Given the description of an element on the screen output the (x, y) to click on. 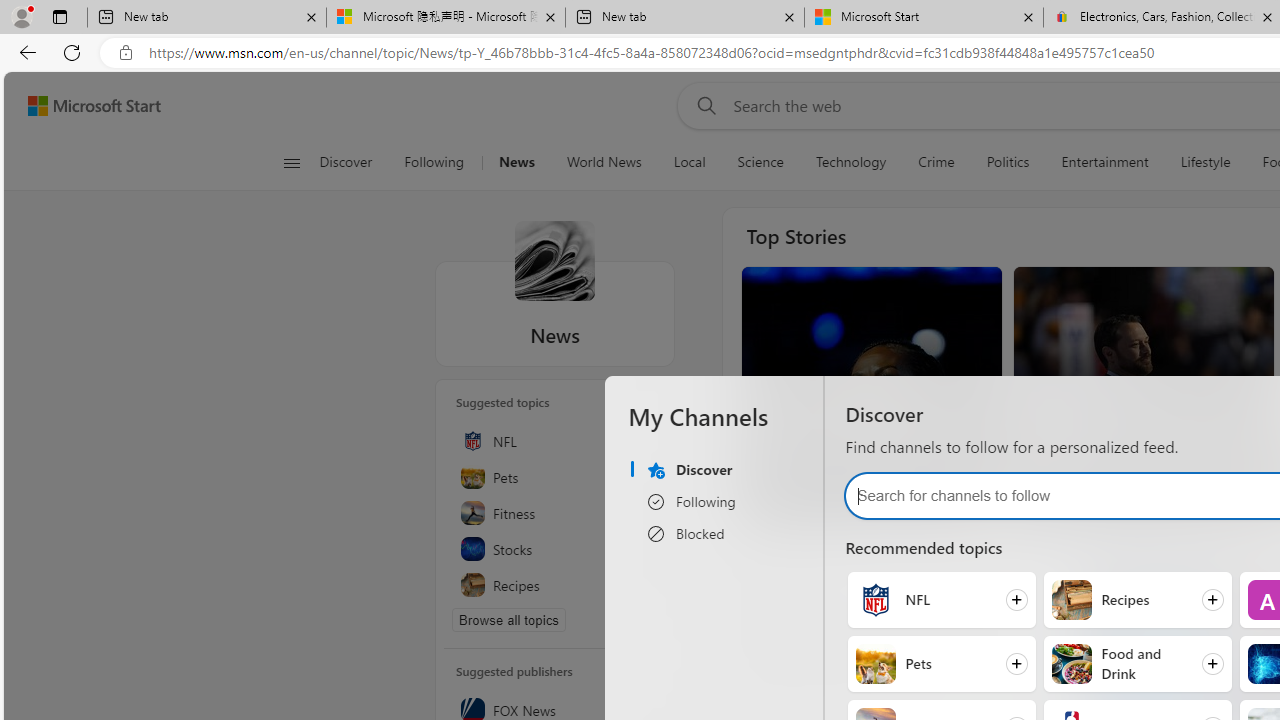
Dislike (1083, 500)
Class: button-glyph (290, 162)
Web search (702, 105)
News (554, 260)
248 Like (774, 500)
Entertainment (1105, 162)
Discover (353, 162)
World News (603, 162)
Skip to footer (82, 105)
Science (760, 162)
See more (1243, 296)
Local (689, 162)
Crime (936, 162)
Follow this topic (645, 585)
News (516, 162)
